Given the description of an element on the screen output the (x, y) to click on. 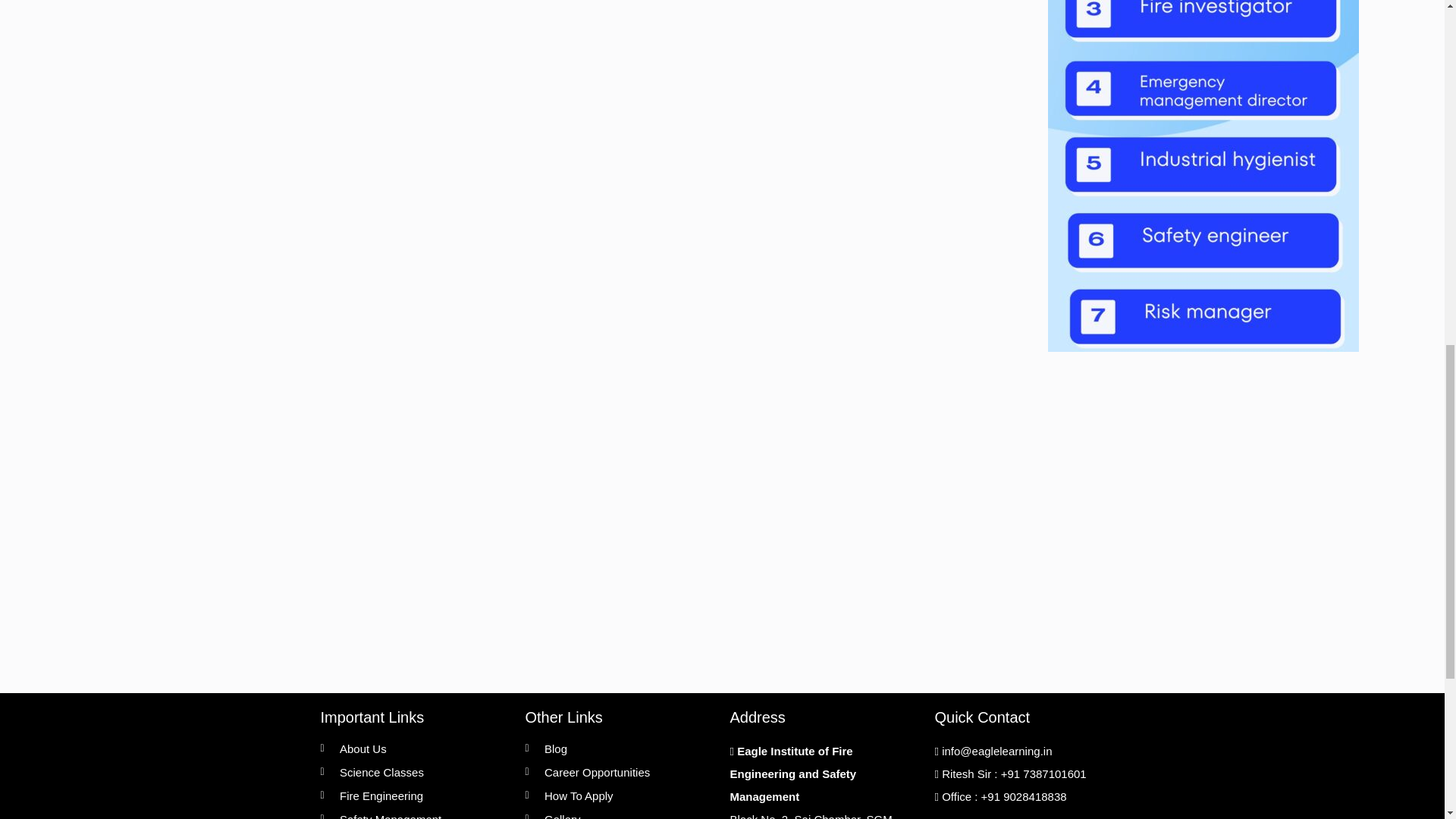
About Us (414, 748)
Safety Management (414, 814)
Gallery (619, 814)
Blog (619, 748)
Fire Engineering (414, 795)
How To Apply (619, 795)
Science Classes (414, 772)
Career Opportunities (619, 772)
